Given the description of an element on the screen output the (x, y) to click on. 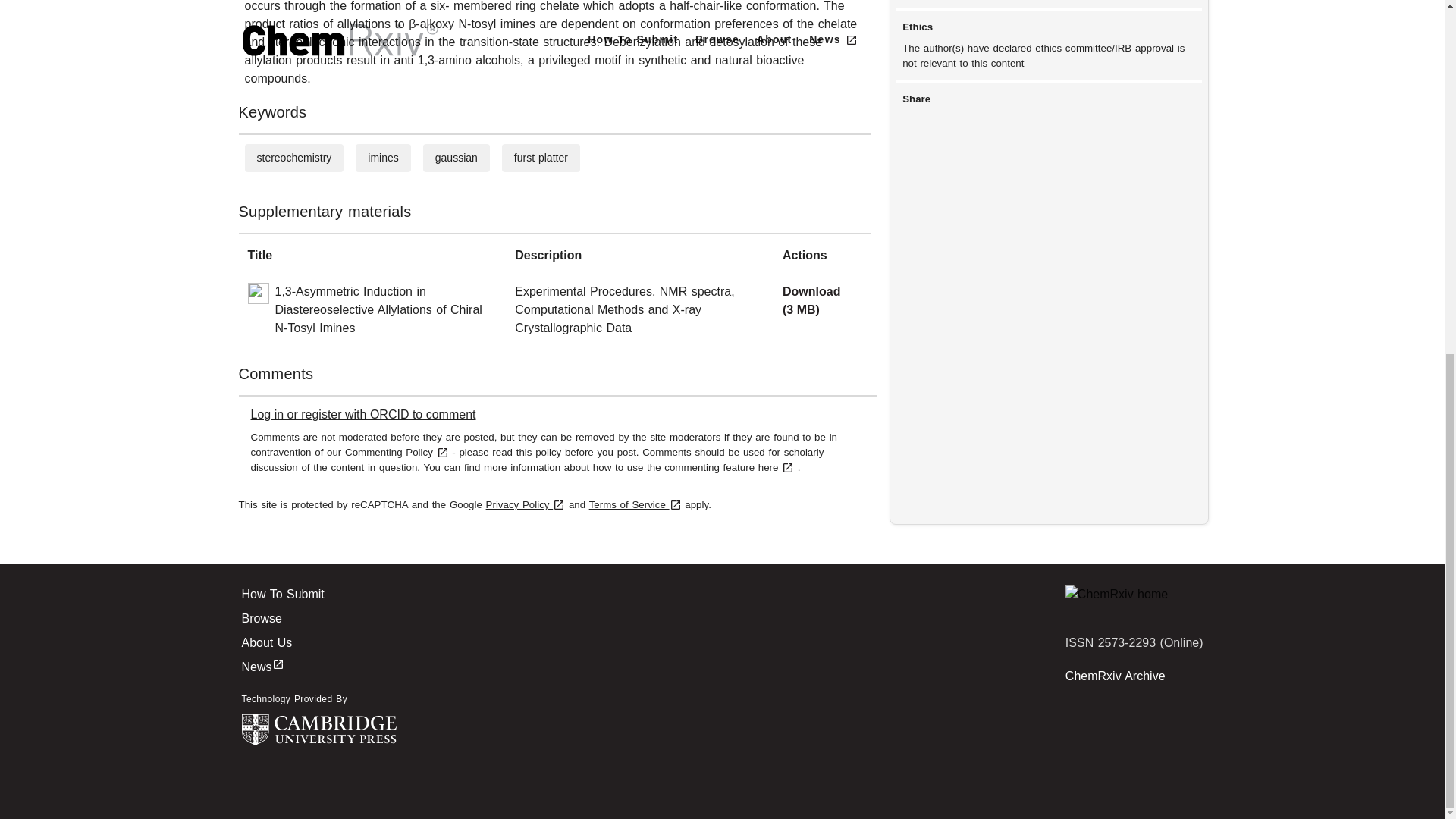
Log in or register with ORCID to comment (363, 414)
gaussian (456, 157)
imines (382, 157)
furst platter (540, 157)
stereochemistry (293, 157)
